Given the description of an element on the screen output the (x, y) to click on. 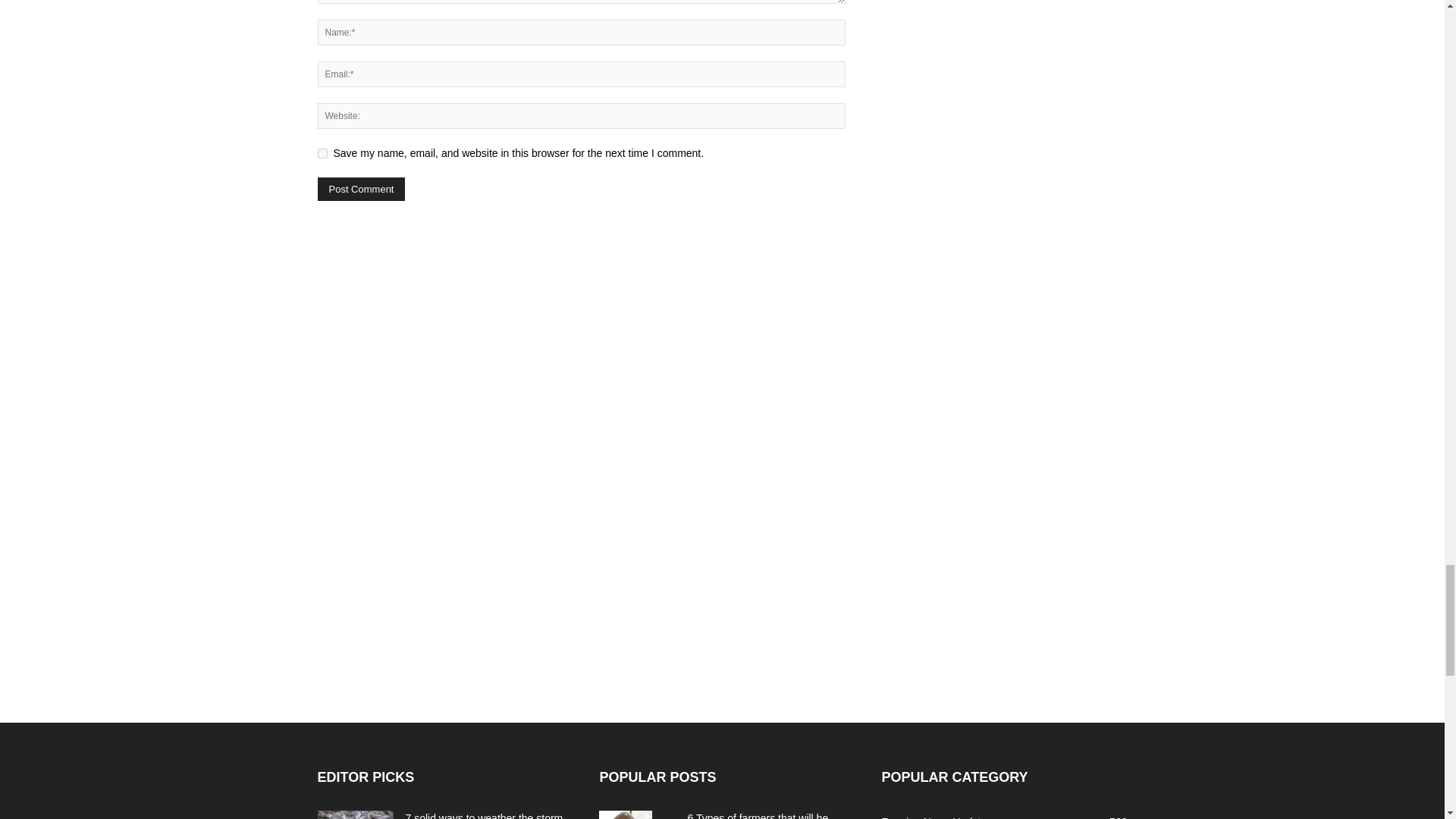
Post Comment (360, 188)
yes (321, 153)
